Given the description of an element on the screen output the (x, y) to click on. 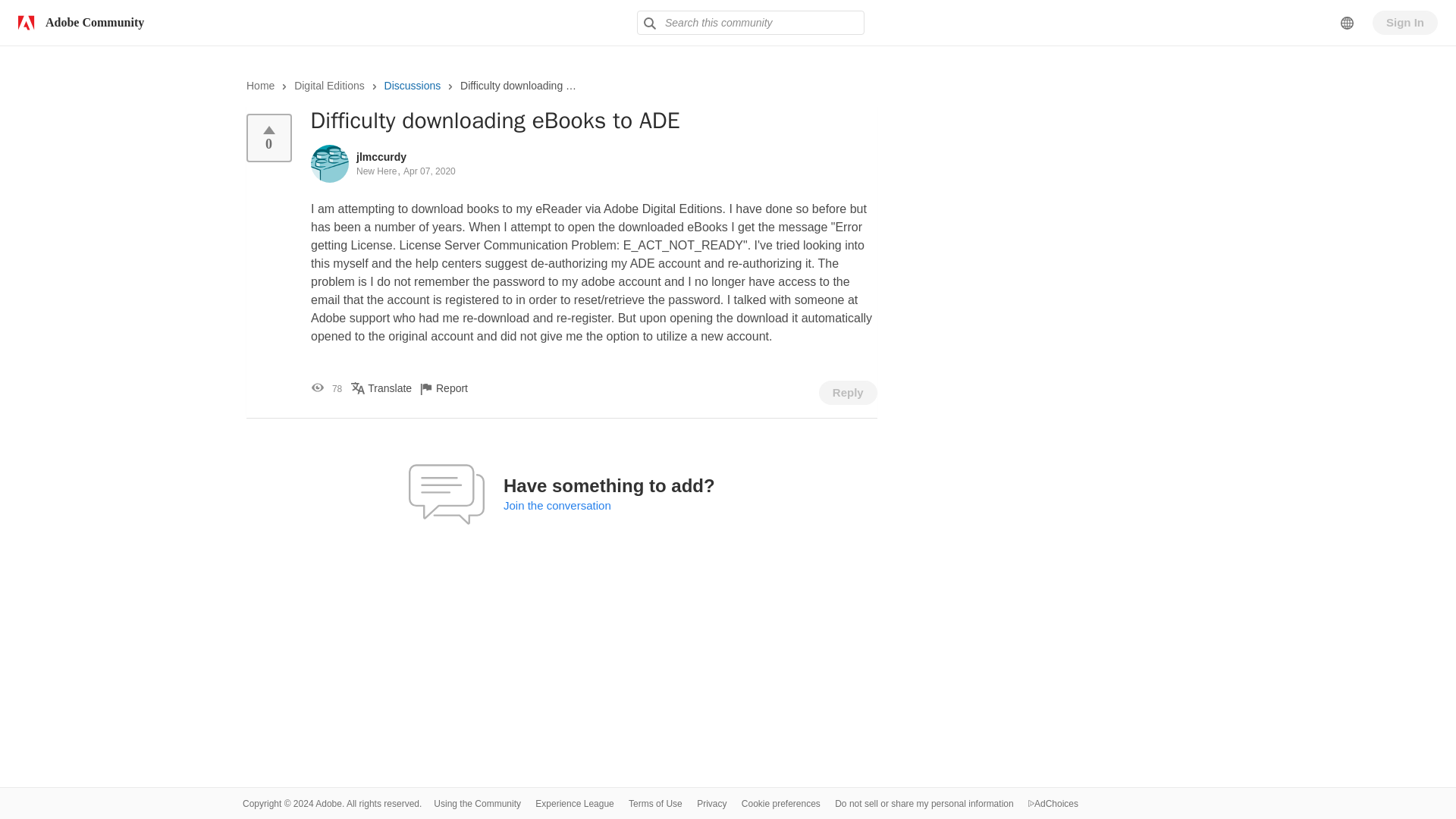
Report (454, 387)
Search (649, 22)
SignIn (1405, 22)
Discussions (412, 85)
Search (649, 22)
Digital Editions (329, 85)
Adobe Community (77, 22)
Search (750, 22)
Adobe Community (77, 22)
Search (649, 22)
jlmccurdy (381, 155)
Reply (847, 392)
Sign In (1405, 22)
Home (260, 85)
